Given the description of an element on the screen output the (x, y) to click on. 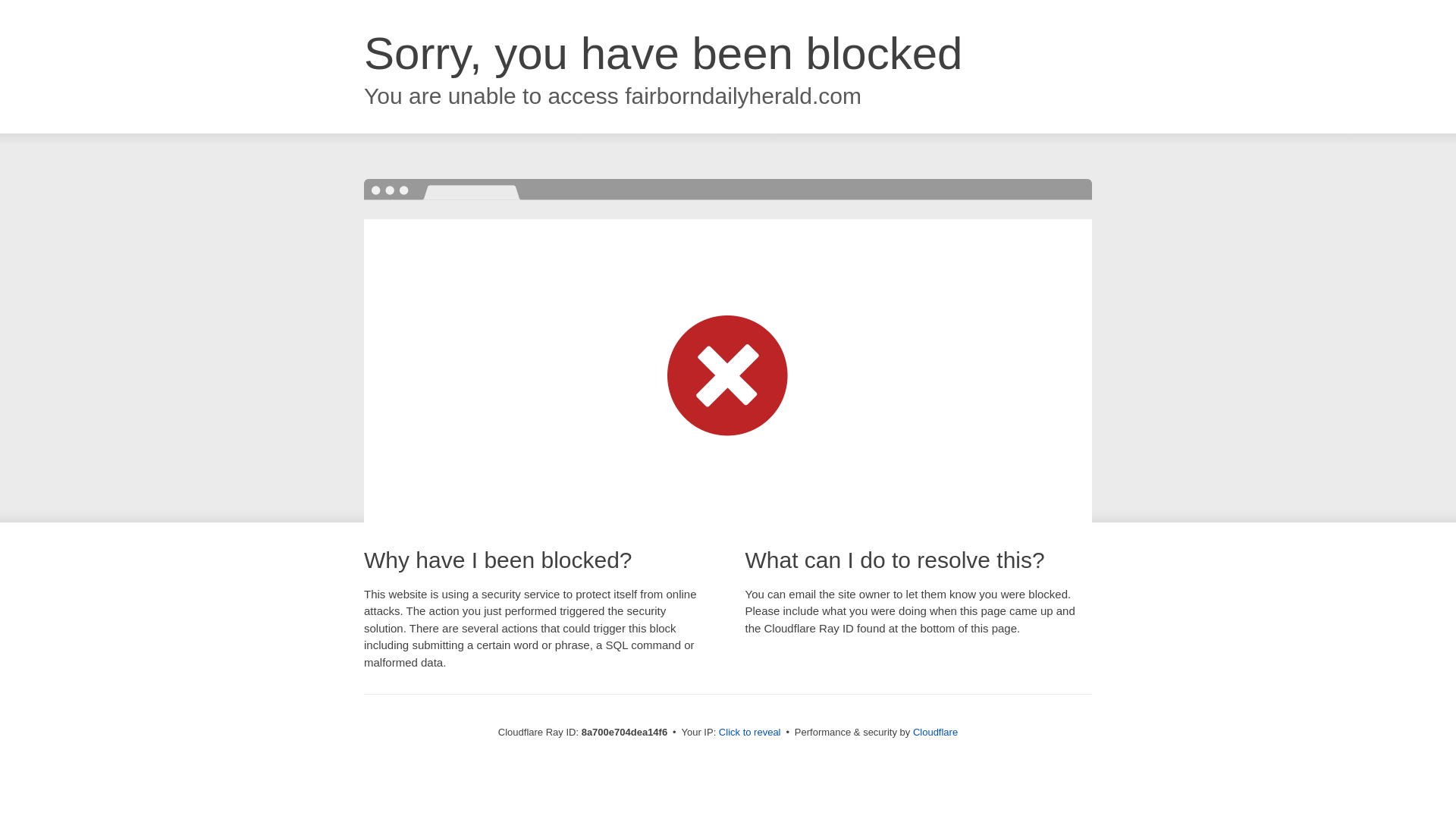
Cloudflare (935, 731)
Click to reveal (749, 732)
